Given the description of an element on the screen output the (x, y) to click on. 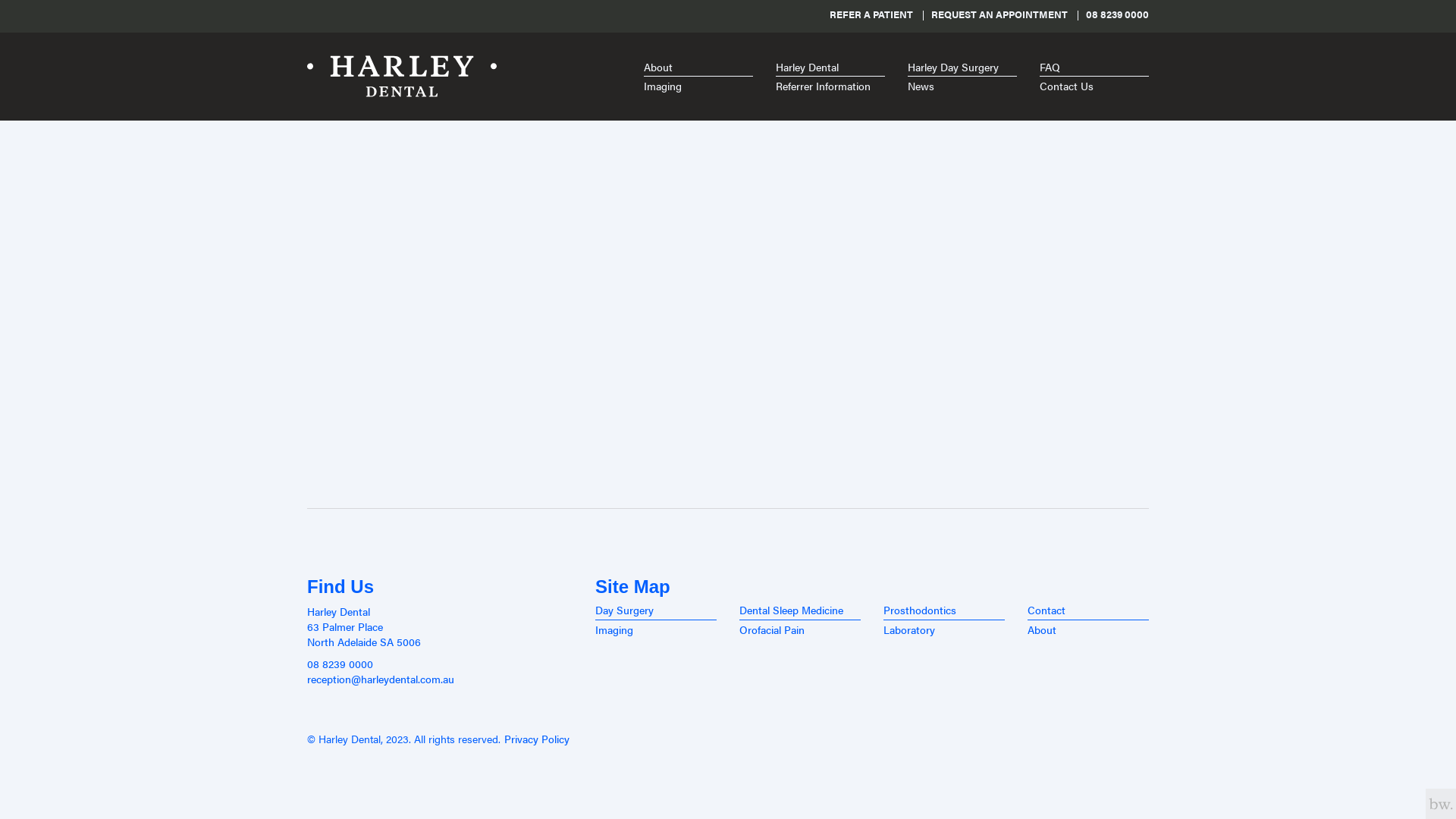
Imaging Element type: text (655, 629)
Contact Us Element type: text (1093, 85)
Imaging Element type: text (698, 85)
Contact Element type: text (1087, 609)
reception@harleydental.com.au Element type: text (439, 679)
08 8239 0000 Element type: text (439, 663)
Harley Dental
63 Palmer Place
North Adelaide SA 5006 Element type: text (439, 626)
Privacy Policy Element type: text (536, 738)
About Element type: text (698, 66)
Harley Dental - Home Element type: hover (401, 76)
Dental Sleep Medicine Element type: text (799, 609)
Harley Dental Element type: text (829, 66)
News Element type: text (961, 85)
Prosthodontics Element type: text (943, 609)
Harley Day Surgery Element type: text (961, 66)
About Element type: text (1087, 629)
Referrer Information Element type: text (829, 85)
FAQ Element type: text (1093, 66)
REQUEST AN APPOINTMENT Element type: text (999, 14)
Laboratory Element type: text (943, 629)
REFER A PATIENT Element type: text (871, 14)
08 8239 0000 Element type: text (1116, 14)
Day Surgery Element type: text (655, 609)
Orofacial Pain Element type: text (799, 629)
